Given the description of an element on the screen output the (x, y) to click on. 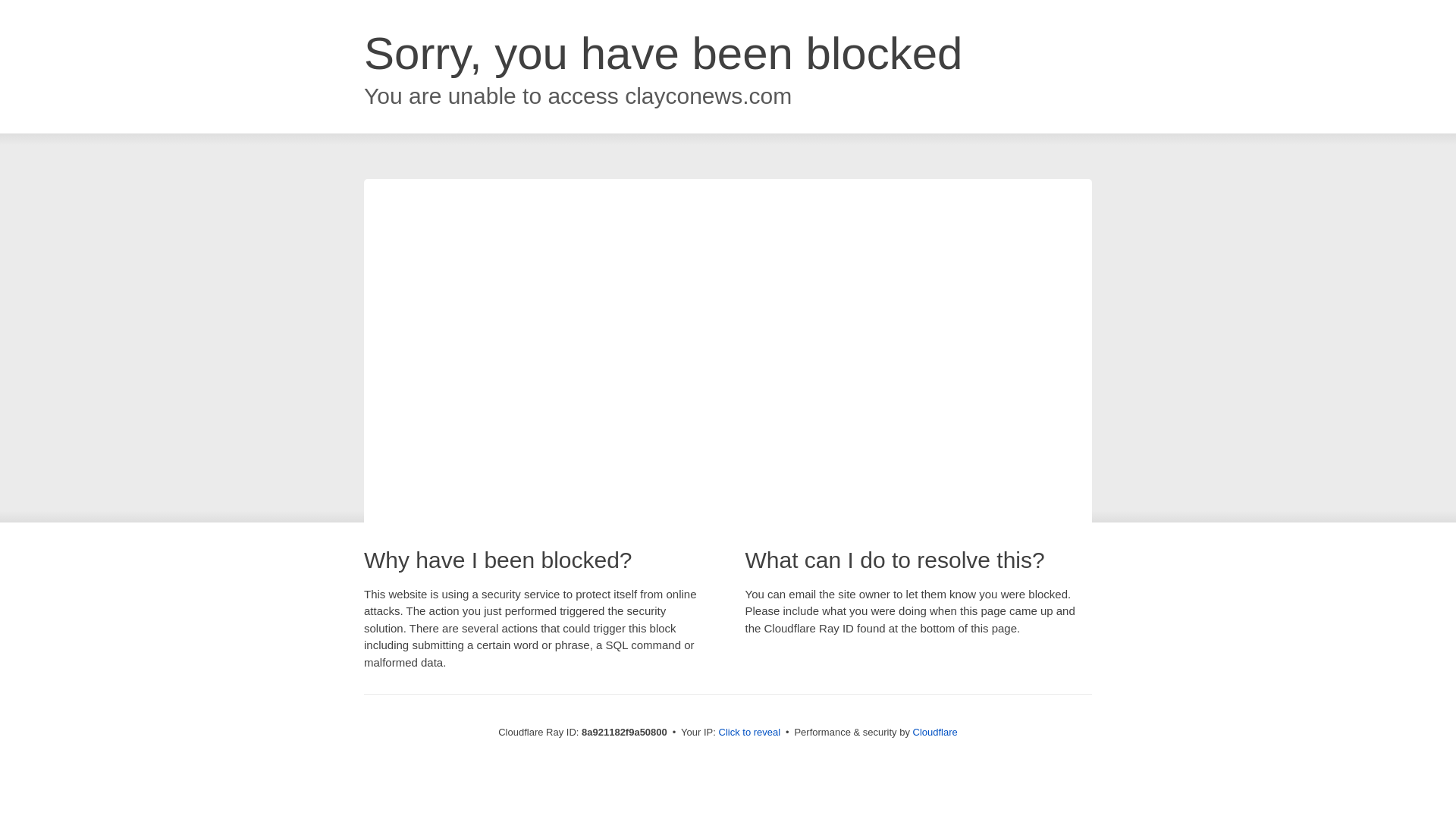
Click to reveal (749, 732)
Cloudflare (935, 731)
